Given the description of an element on the screen output the (x, y) to click on. 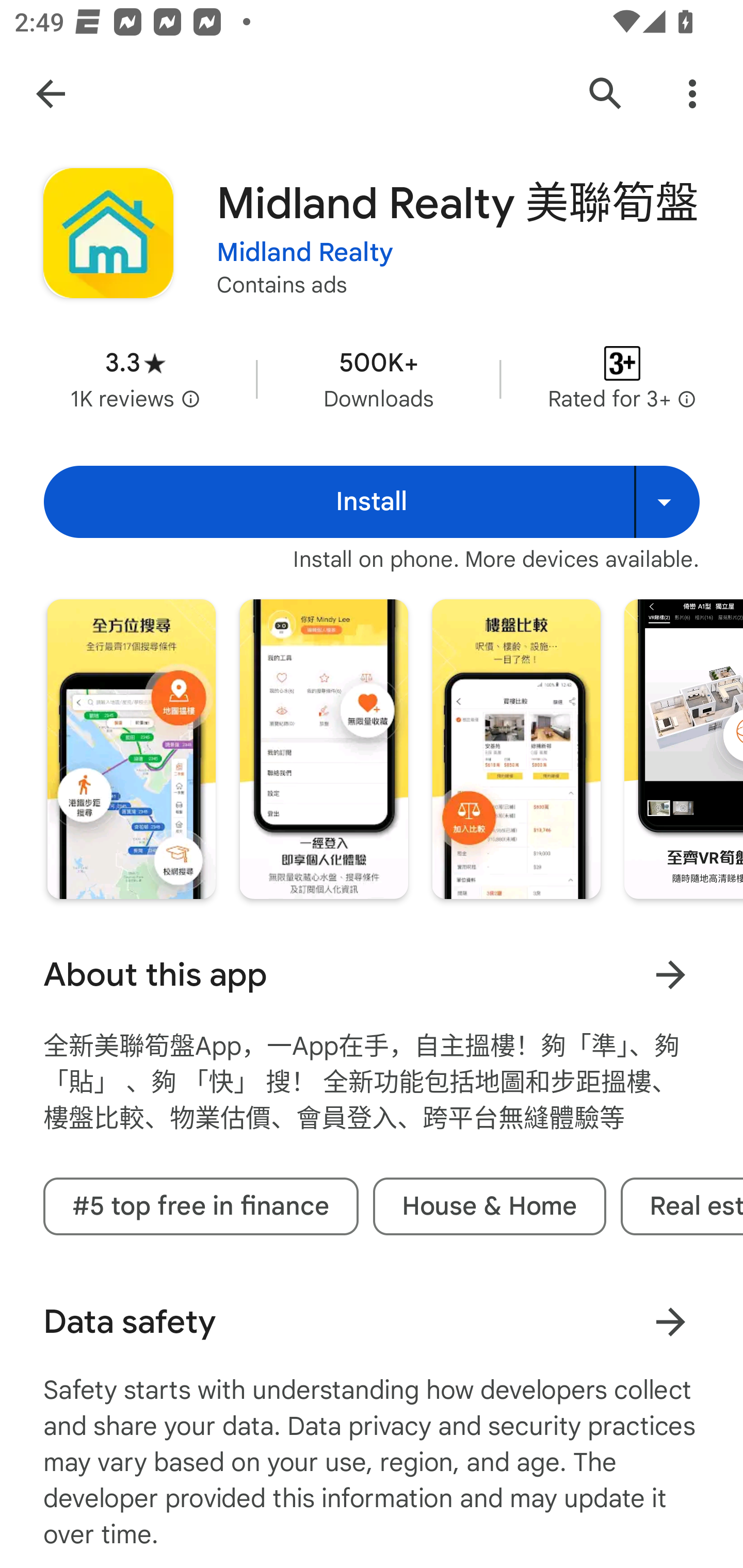
Navigate up (50, 93)
Search Google Play (605, 93)
More Options (692, 93)
Midland Realty (304, 253)
Average rating 3.3 stars in 1 thousand reviews (135, 379)
Content rating Rated for 3+ (622, 379)
Install Install Install on more devices (371, 501)
Install on more devices (667, 501)
Screenshot "1" of "7" (130, 748)
Screenshot "2" of "7" (323, 748)
Screenshot "3" of "7" (515, 748)
Screenshot "4" of "7" (683, 748)
About this app Learn more About this app (371, 974)
Learn more About this app (670, 974)
#5 top free in finance tag (200, 1206)
House & Home tag (489, 1206)
Real estate tag (681, 1206)
Data safety Learn more about data safety (371, 1321)
Learn more about data safety (670, 1321)
